Given the description of an element on the screen output the (x, y) to click on. 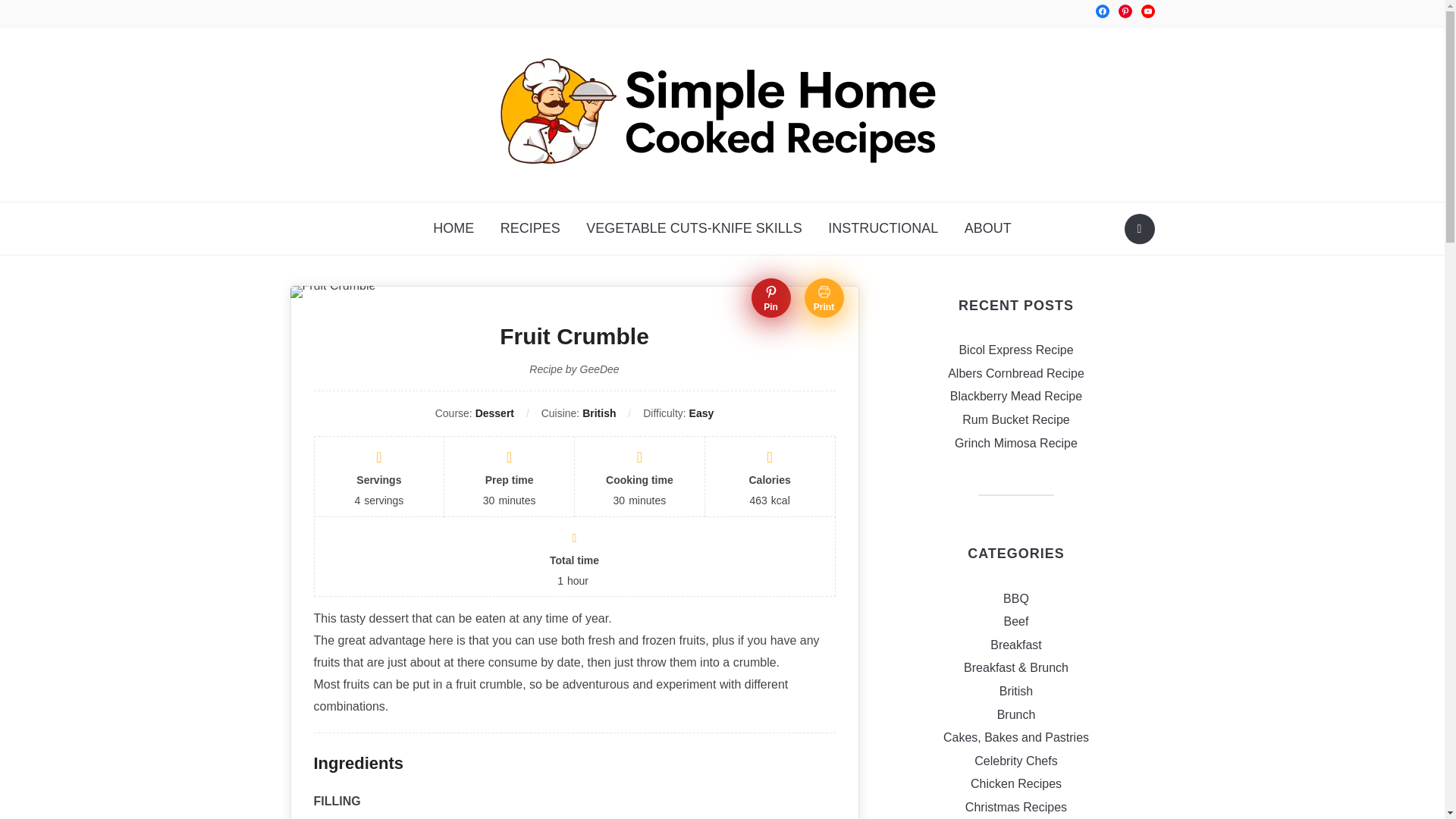
Facebook (1101, 11)
HOME (453, 228)
Print directions... (823, 297)
RECIPES (530, 228)
INSTRUCTIONAL (882, 228)
VEGETABLE CUTS-KNIFE SKILLS (694, 228)
Search (1139, 228)
YouTube (1147, 11)
Pinterest (1124, 11)
